Given the description of an element on the screen output the (x, y) to click on. 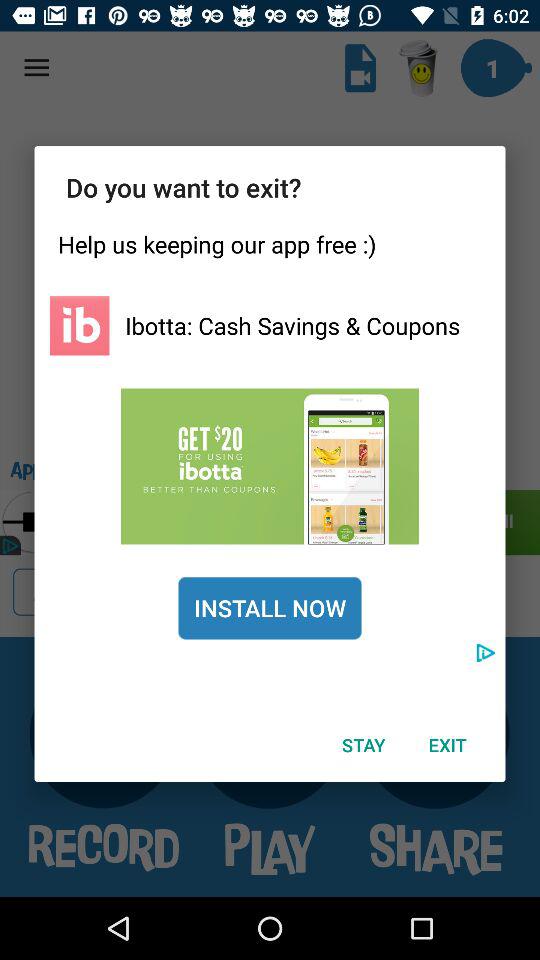
jump to ibotta cash savings (292, 325)
